Given the description of an element on the screen output the (x, y) to click on. 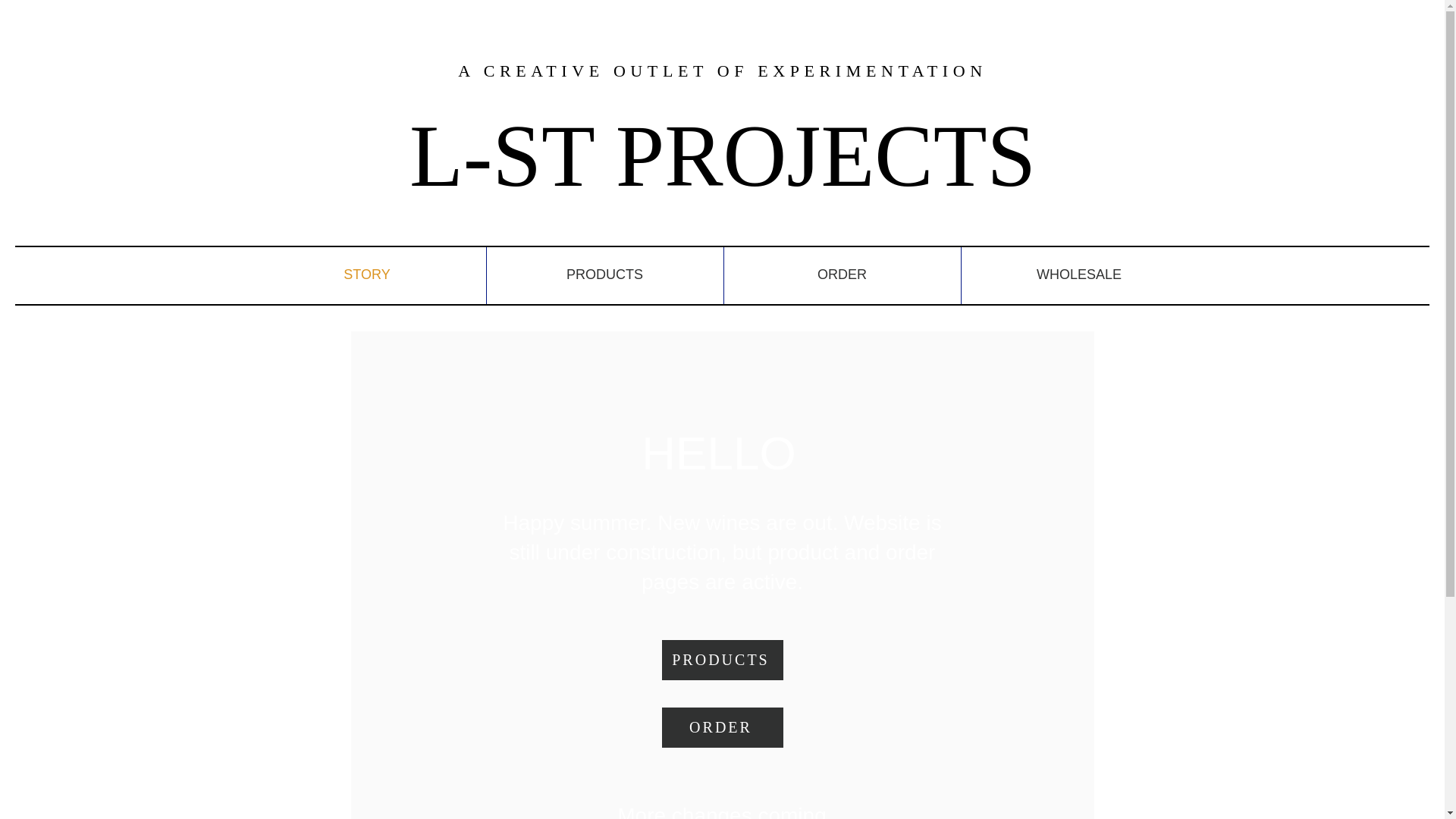
PRODUCTS (722, 659)
L-ST PROJECTS (722, 155)
ORDER (841, 274)
STORY (367, 274)
ORDER (722, 727)
PRODUCTS (603, 274)
WHOLESALE (1077, 274)
